Given the description of an element on the screen output the (x, y) to click on. 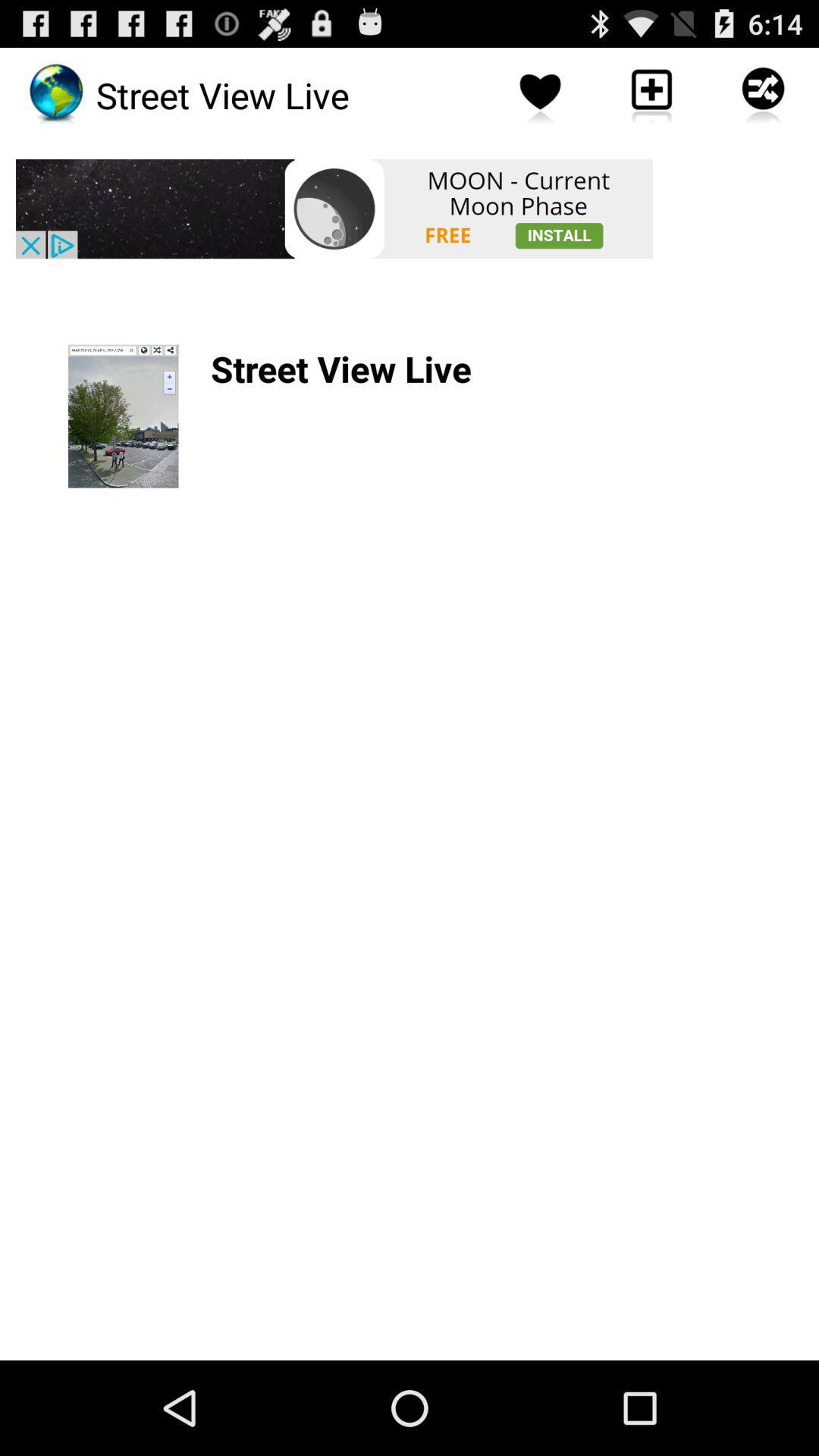
install application (333, 208)
